Given the description of an element on the screen output the (x, y) to click on. 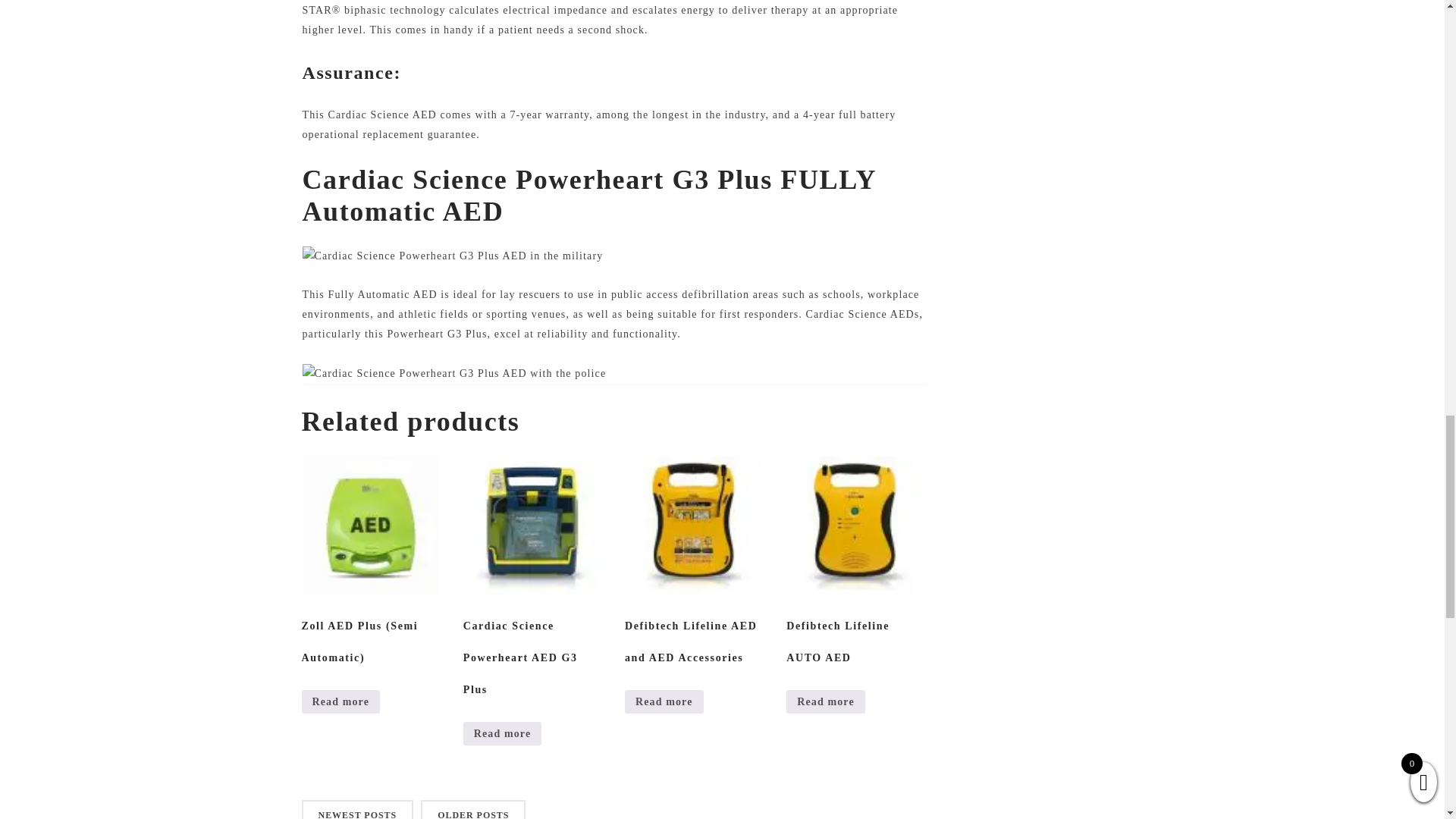
Read more (340, 701)
Read more (502, 733)
NEWEST POSTS (357, 809)
Read more (825, 701)
OLDER POSTS (472, 809)
Read more (663, 701)
